Given the description of an element on the screen output the (x, y) to click on. 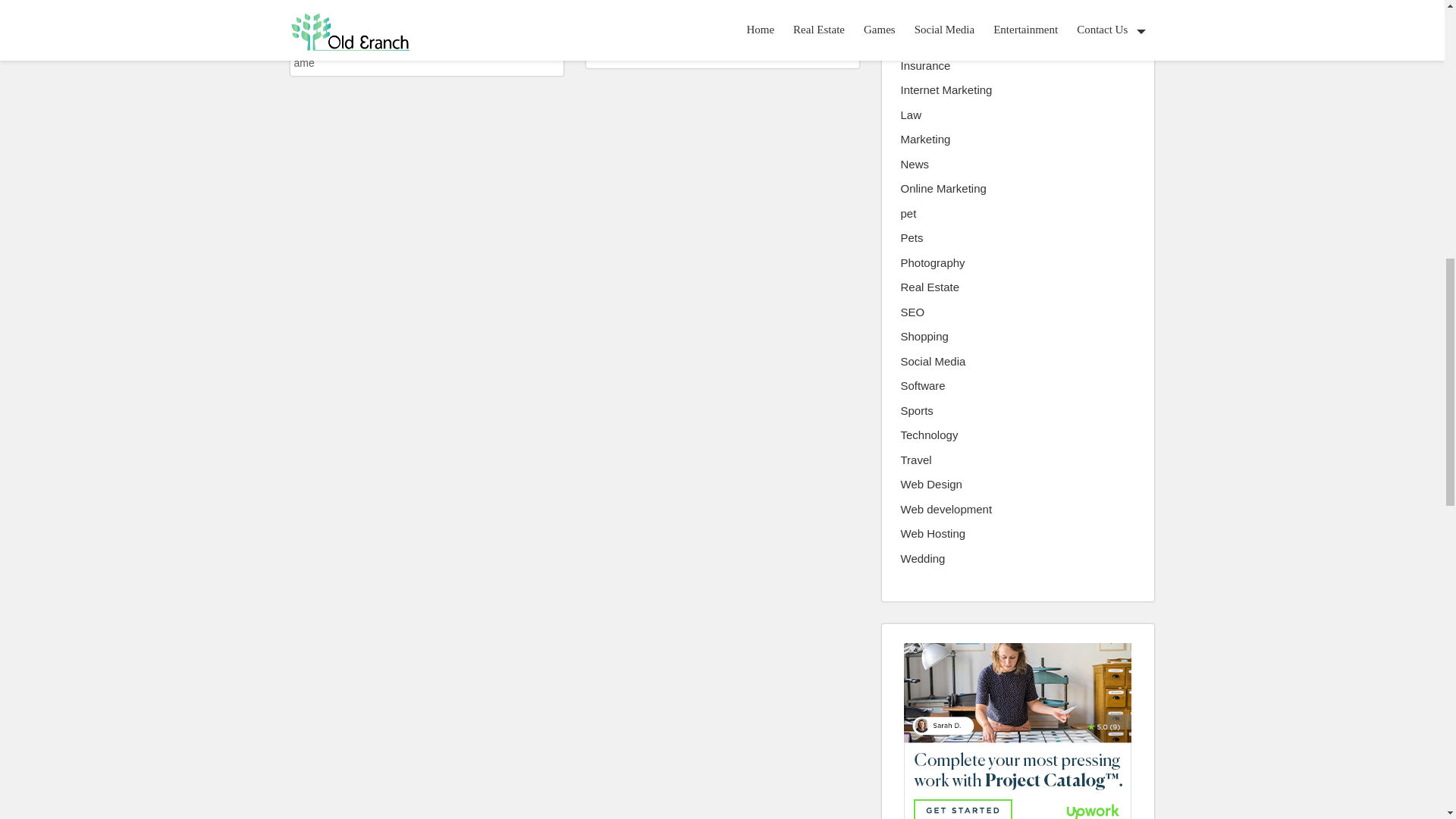
Preveious (413, 49)
Several Ways for Buying an Expired Domain Name (426, 18)
Next (747, 49)
One man love for goose hunting in Missouri (721, 18)
